Given the description of an element on the screen output the (x, y) to click on. 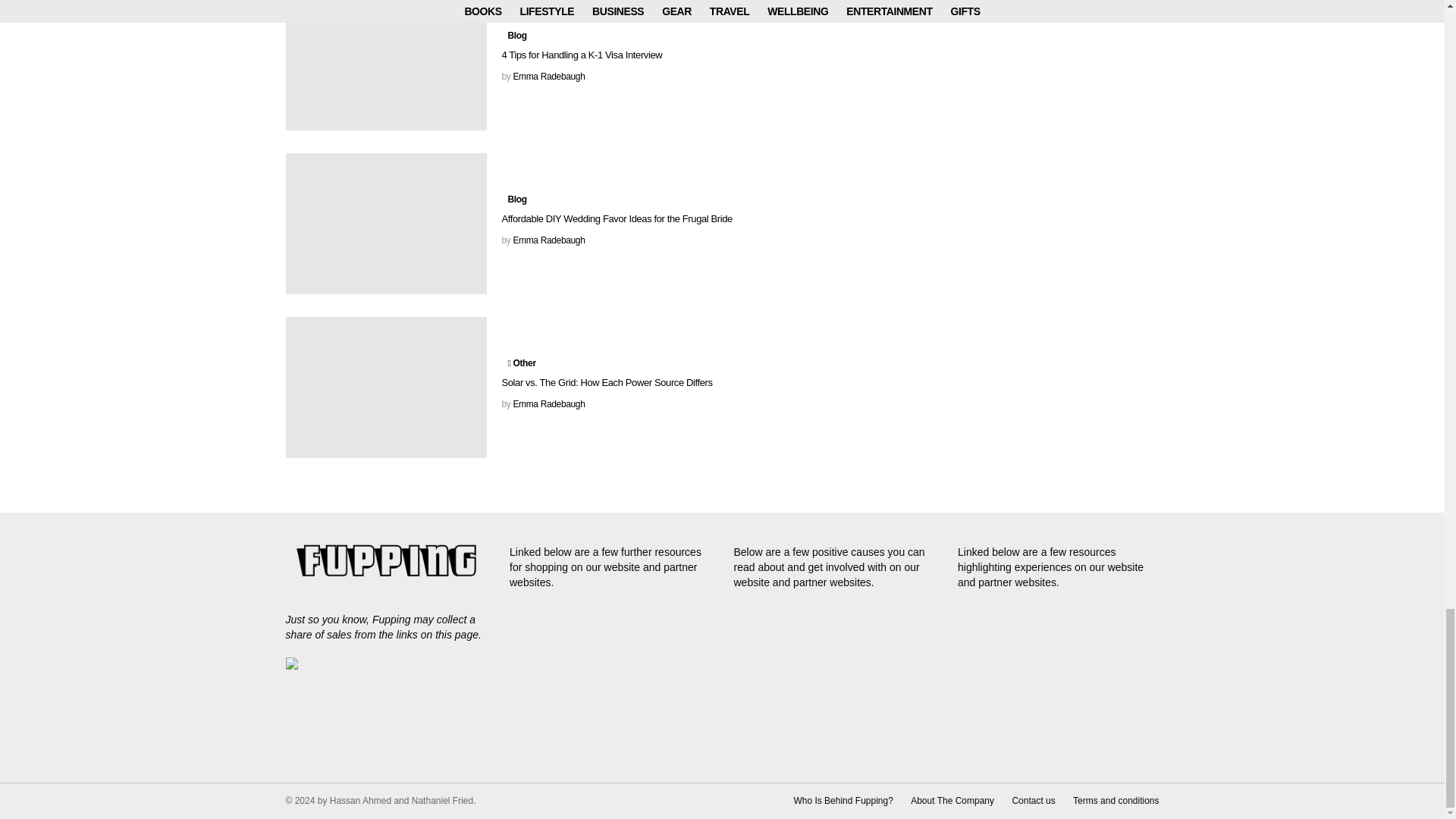
Posts by Emma Radebaugh (548, 240)
Affordable DIY Wedding Favor Ideas for the Frugal Bride (385, 223)
Posts by Emma Radebaugh (548, 403)
Posts by Emma Radebaugh (548, 76)
4 Tips for Handling a K-1 Visa Interview (385, 65)
Solar vs. The Grid: How Each Power Source Differs (385, 386)
